Given the description of an element on the screen output the (x, y) to click on. 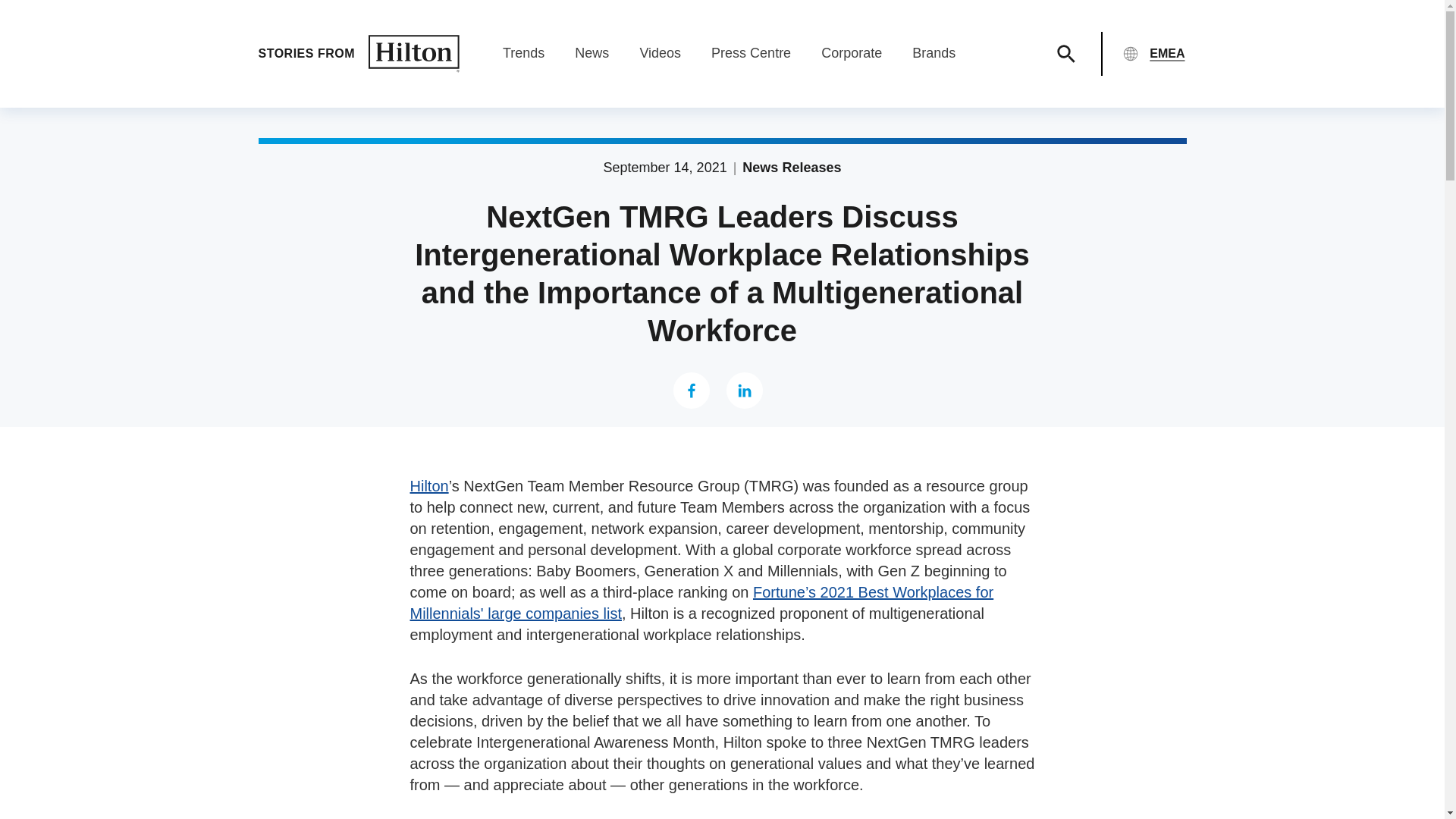
Trends (523, 53)
Corporate (851, 53)
Videos (660, 53)
STORIES FROM (358, 53)
Press Centre (750, 53)
News (591, 53)
